Given the description of an element on the screen output the (x, y) to click on. 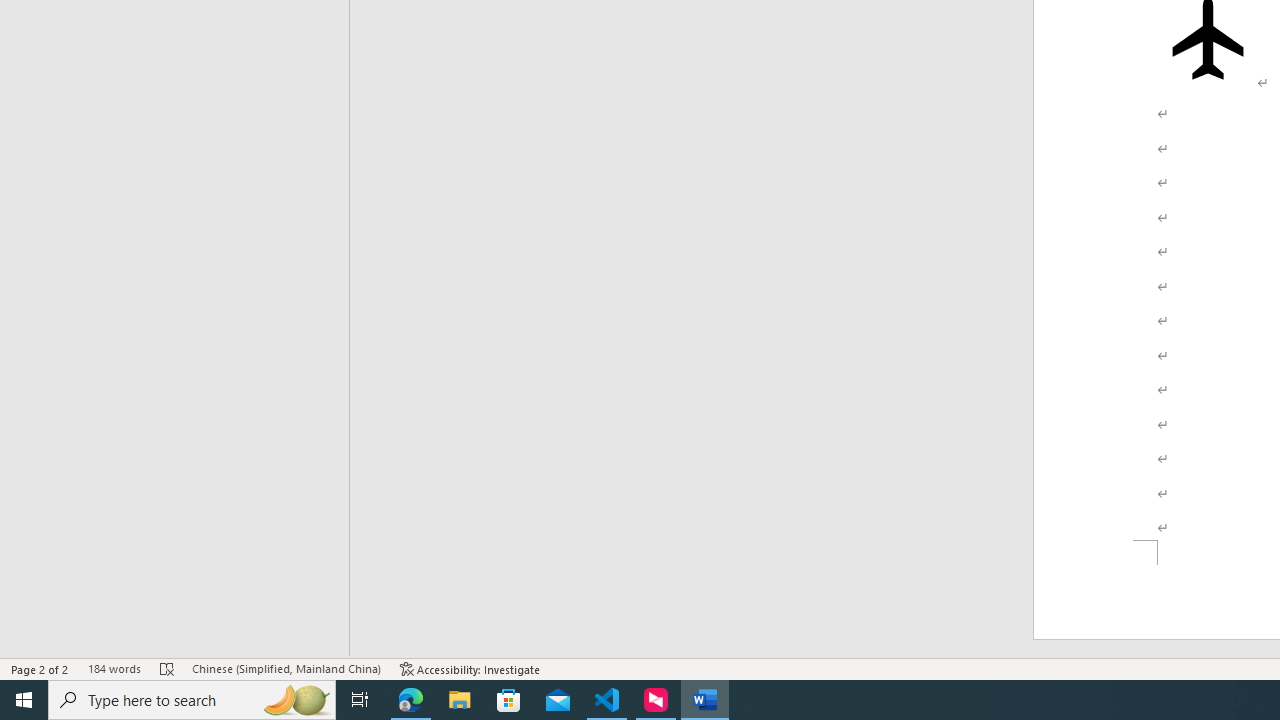
Spelling and Grammar Check Errors (168, 668)
Language Chinese (Simplified, Mainland China) (286, 668)
Page Number Page 2 of 2 (39, 668)
Word Count 184 words (113, 668)
Accessibility Checker Accessibility: Investigate (470, 668)
